Given the description of an element on the screen output the (x, y) to click on. 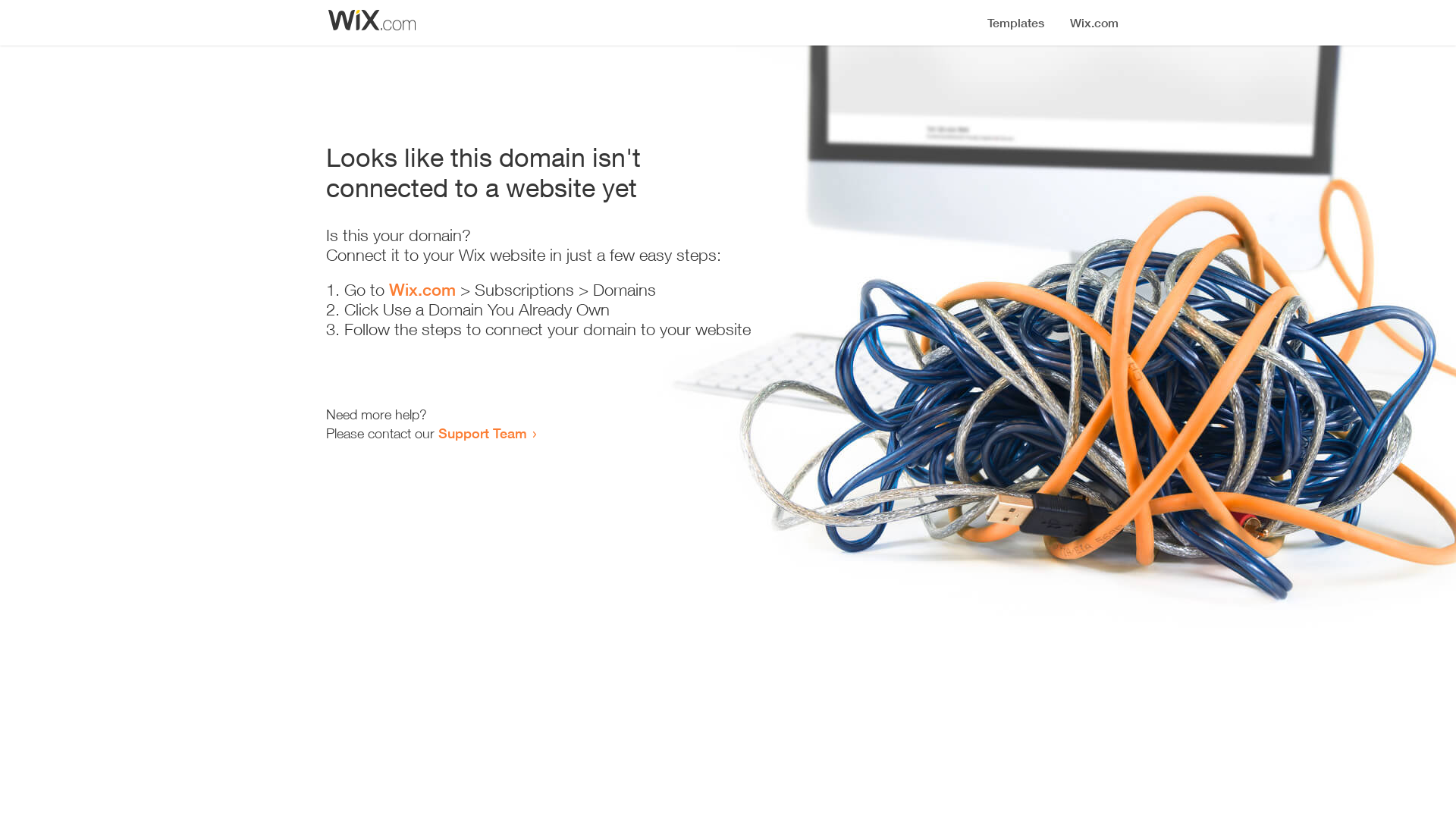
Wix.com Element type: text (422, 289)
Support Team Element type: text (482, 432)
